Given the description of an element on the screen output the (x, y) to click on. 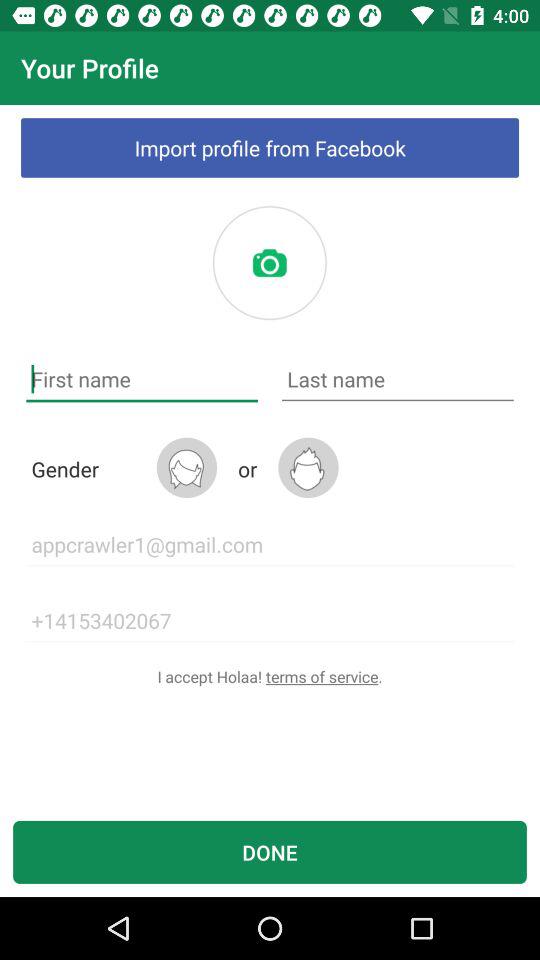
camera image option (269, 263)
